Given the description of an element on the screen output the (x, y) to click on. 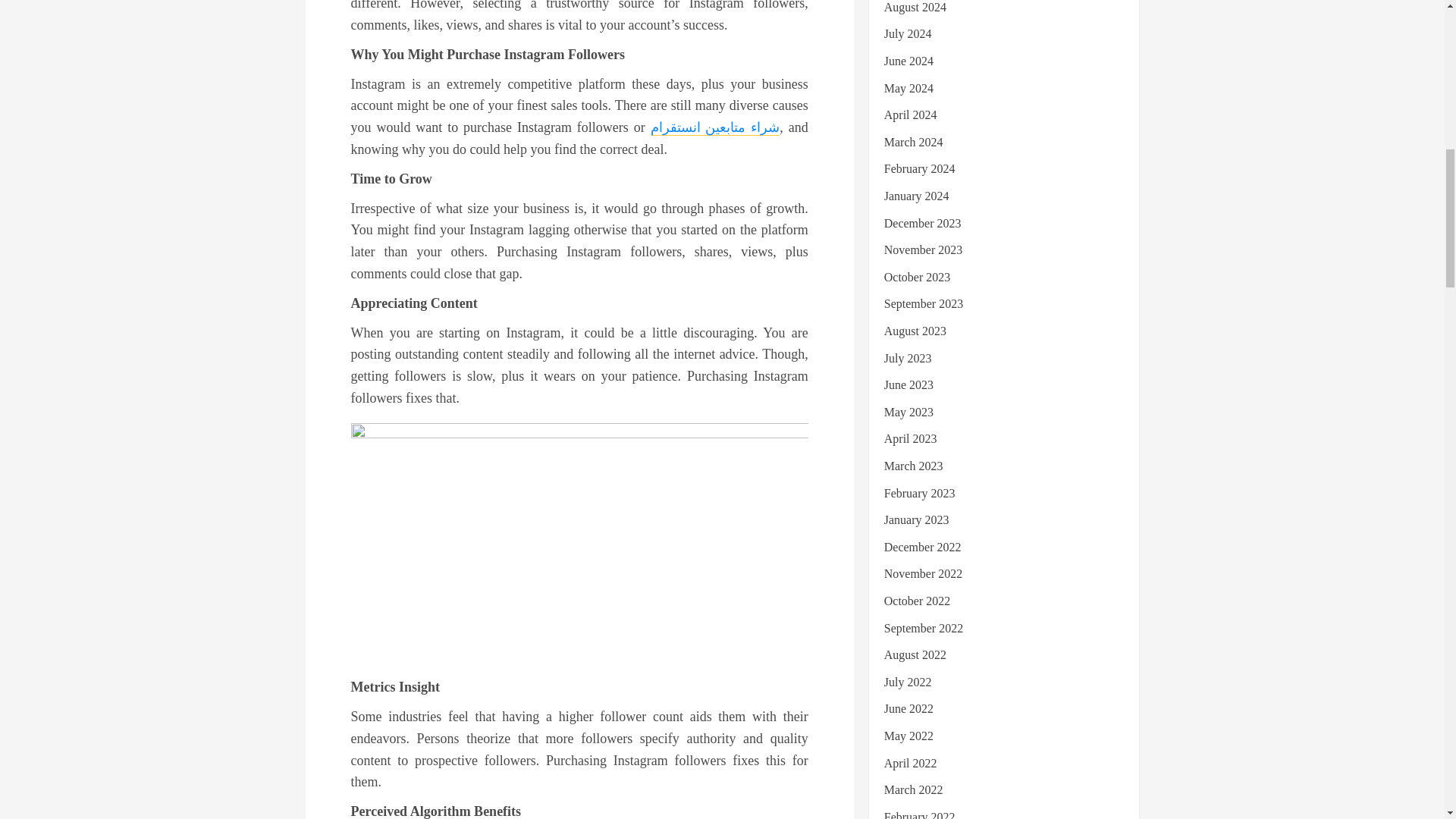
May 2024 (908, 88)
March 2024 (913, 142)
August 2024 (914, 7)
April 2024 (910, 115)
July 2024 (907, 33)
June 2024 (908, 60)
